Given the description of an element on the screen output the (x, y) to click on. 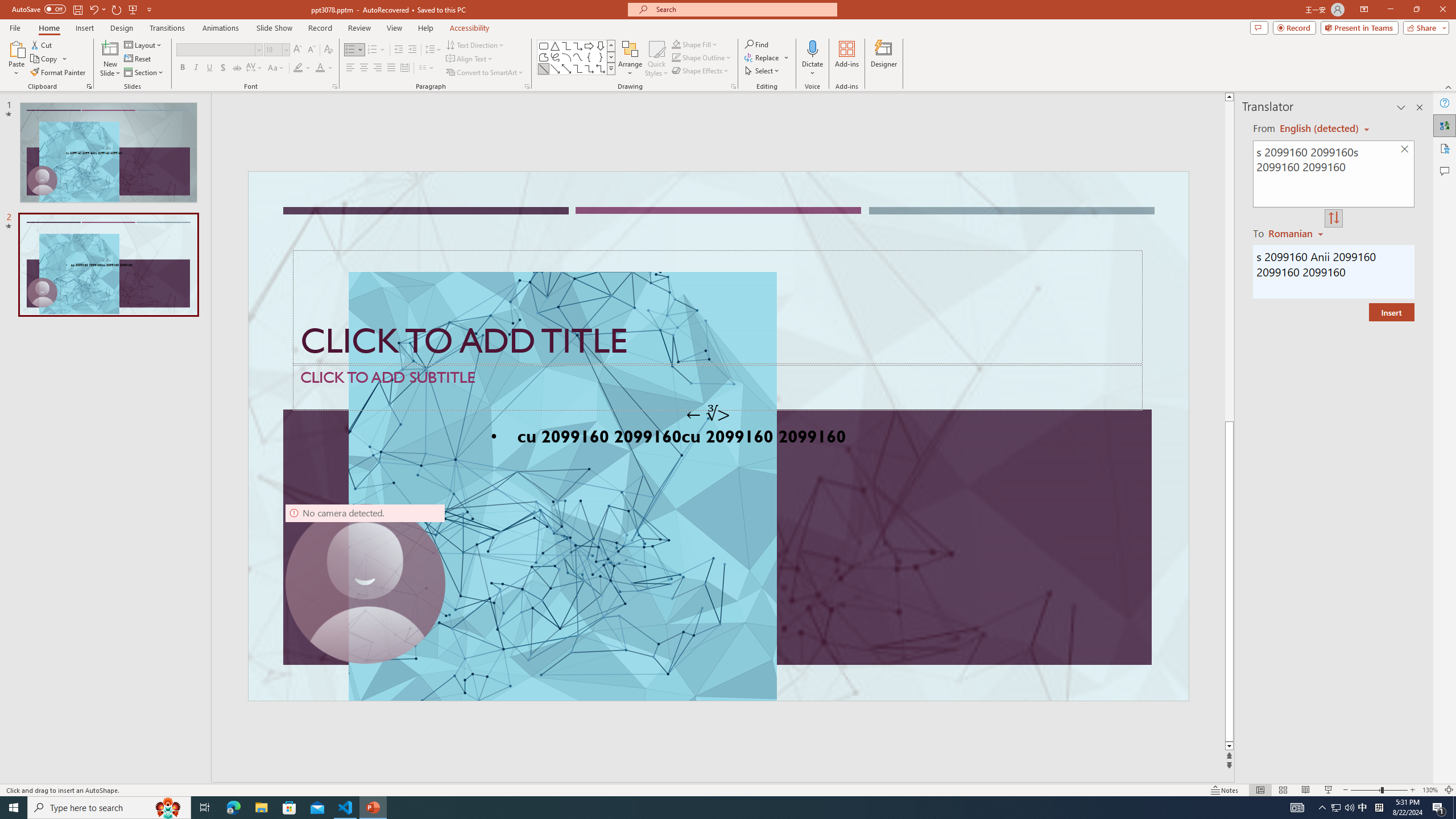
Subtitle TextBox (717, 386)
